Given the description of an element on the screen output the (x, y) to click on. 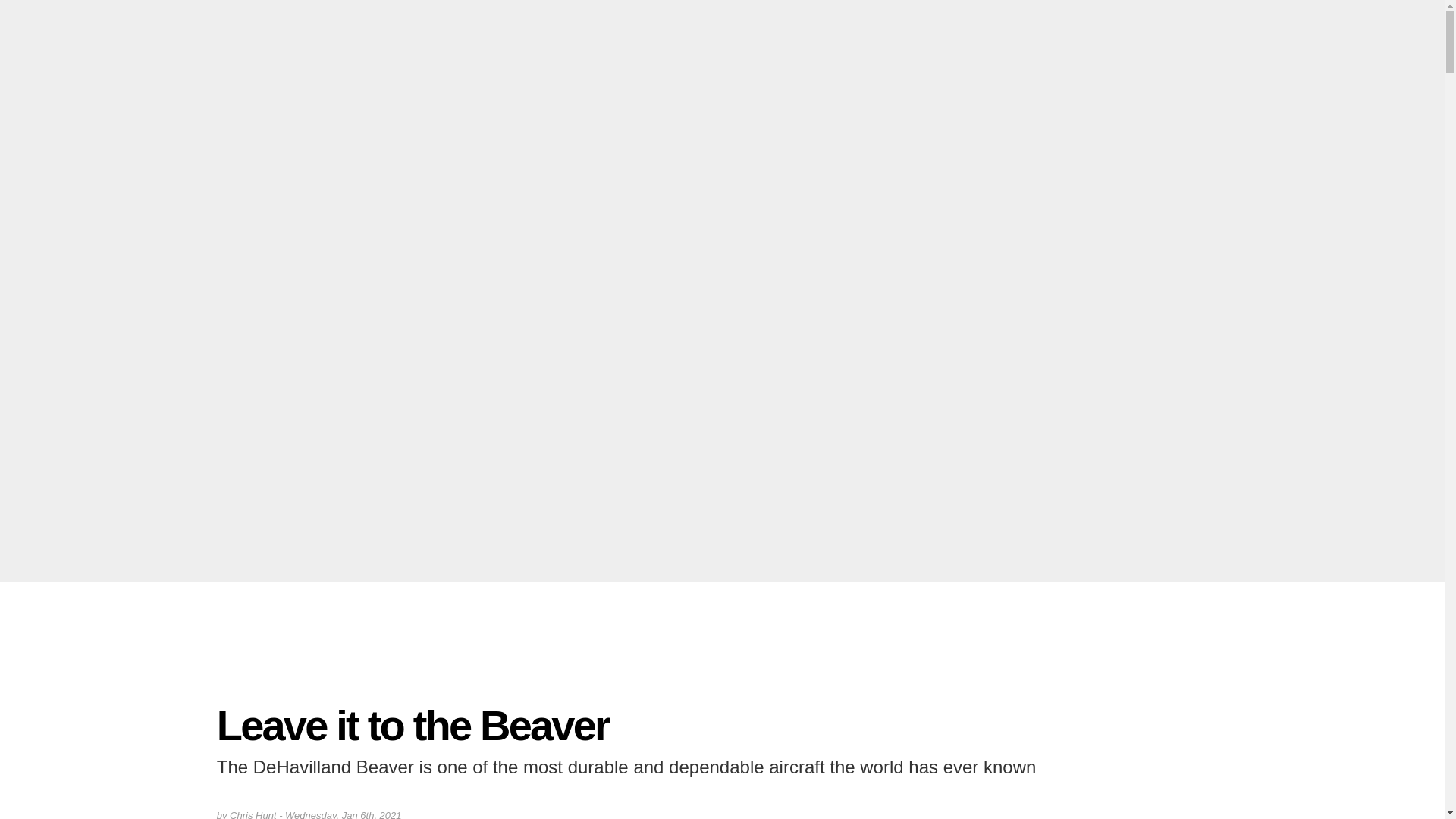
Leave it to the Beaver (412, 725)
